Given the description of an element on the screen output the (x, y) to click on. 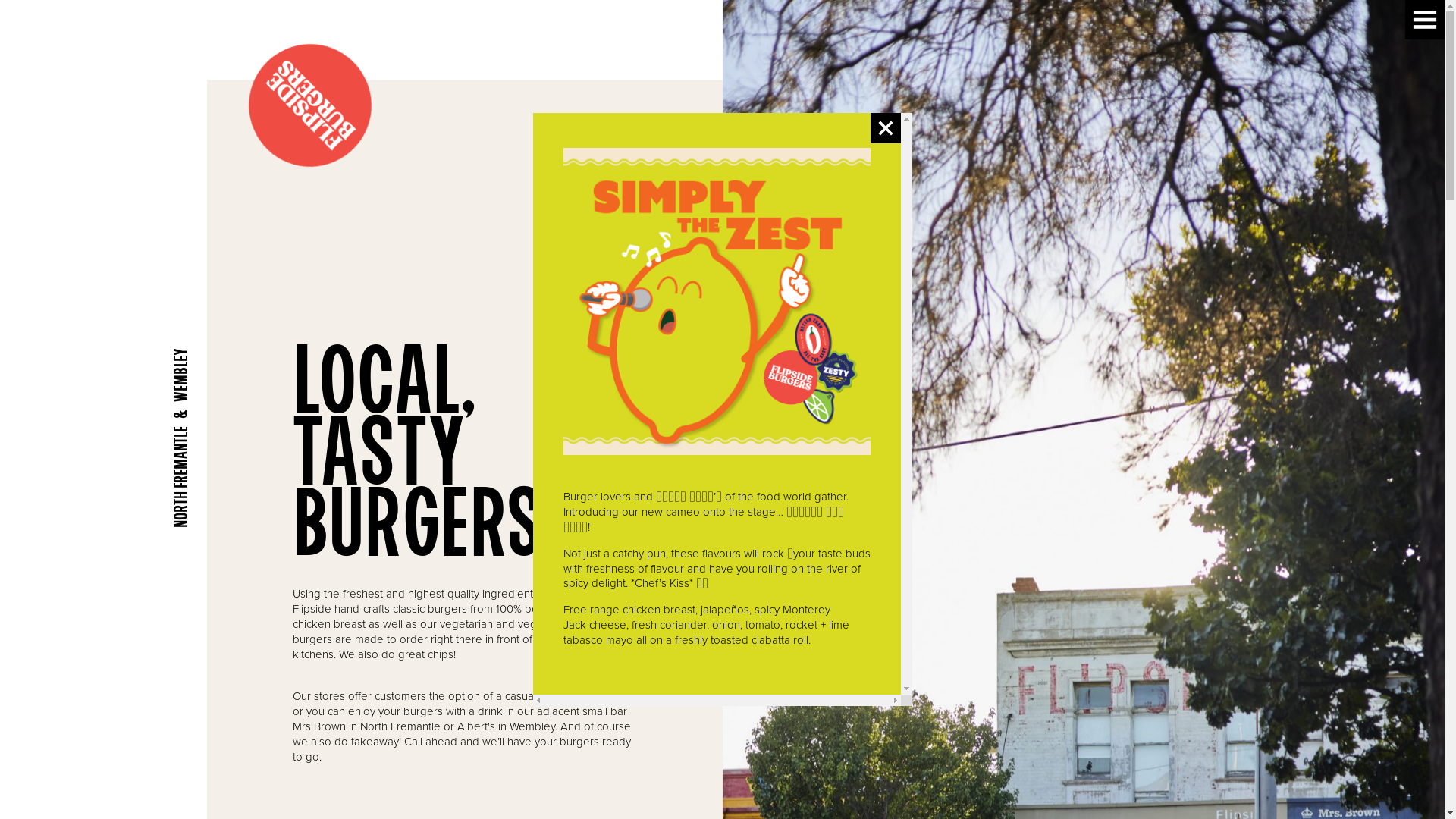
NORTH FREMANTLE Element type: text (103, 476)
WEMBLEY Element type: text (103, 374)
